Given the description of an element on the screen output the (x, y) to click on. 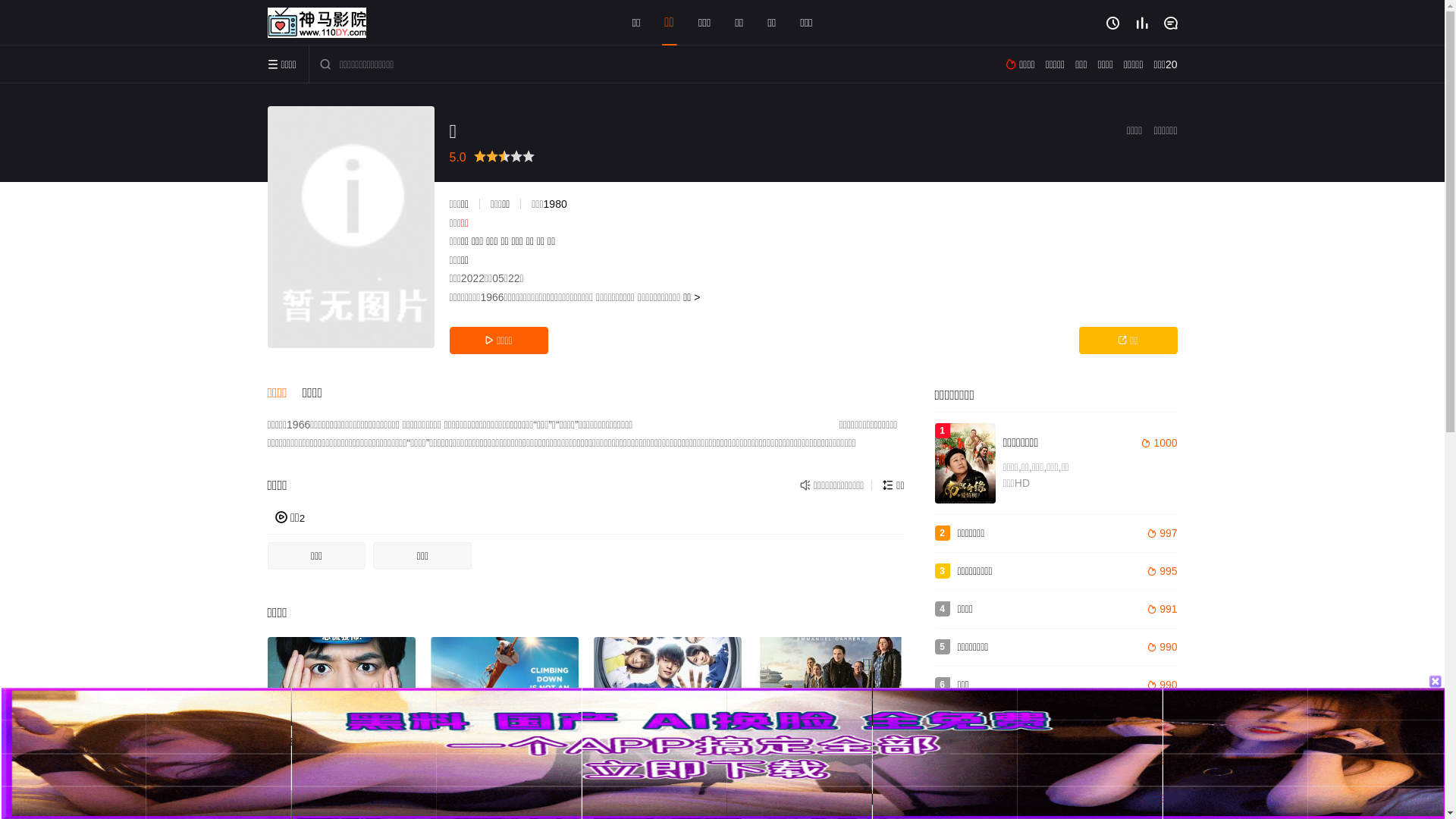
5.1 Element type: text (666, 681)
HD Element type: text (830, 681)
7.6 Element type: text (504, 681)
7.3 Element type: text (340, 681)
1980 Element type: text (555, 203)
